Given the description of an element on the screen output the (x, y) to click on. 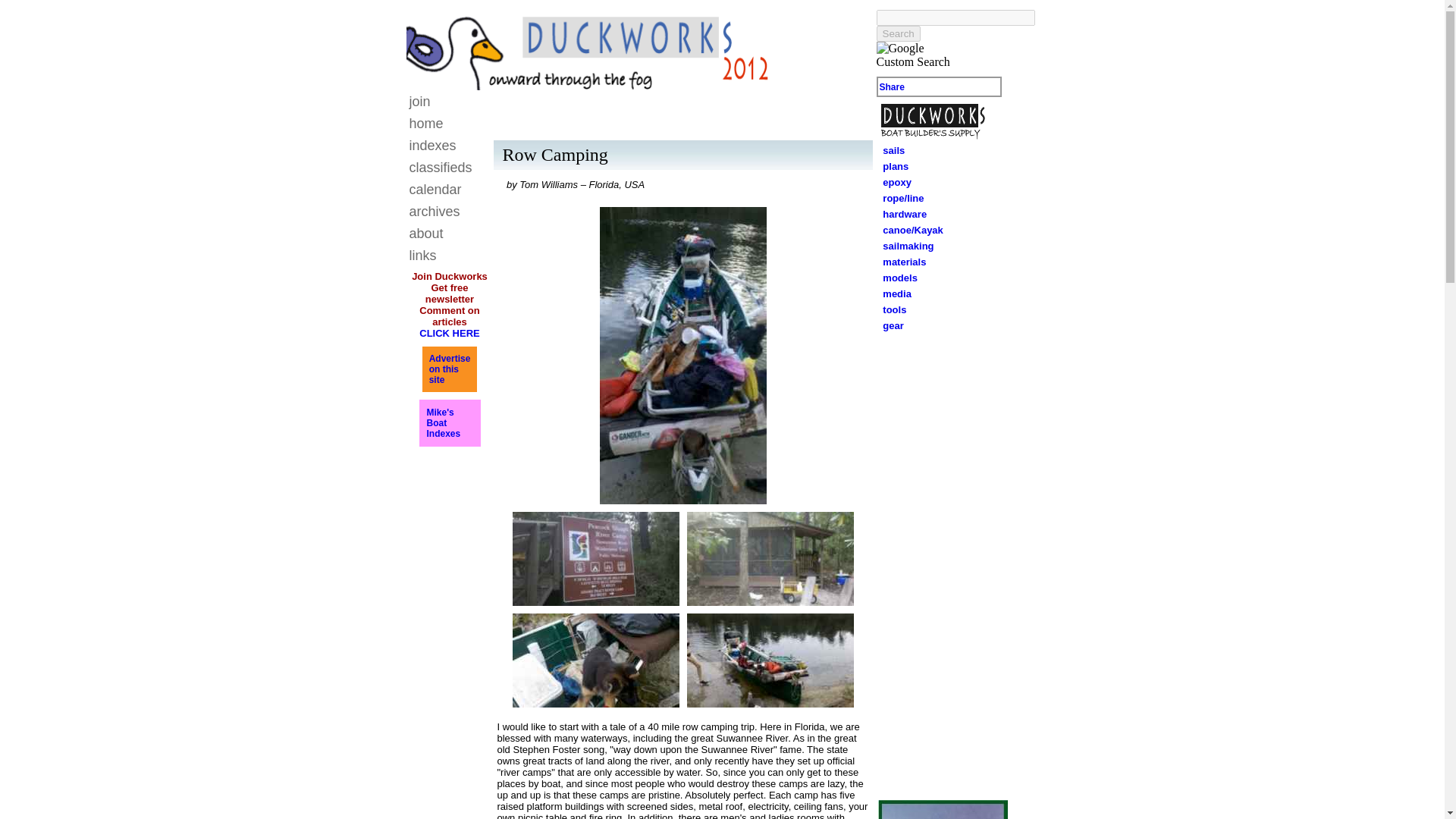
sails (449, 368)
CLICK HERE (893, 150)
models (449, 333)
   materials (899, 277)
   hardware (900, 261)
   gear (901, 214)
   sailmaking (889, 325)
join (904, 245)
   epoxy (443, 422)
Share (419, 101)
home (893, 182)
   plans (891, 86)
   tools (426, 123)
